Given the description of an element on the screen output the (x, y) to click on. 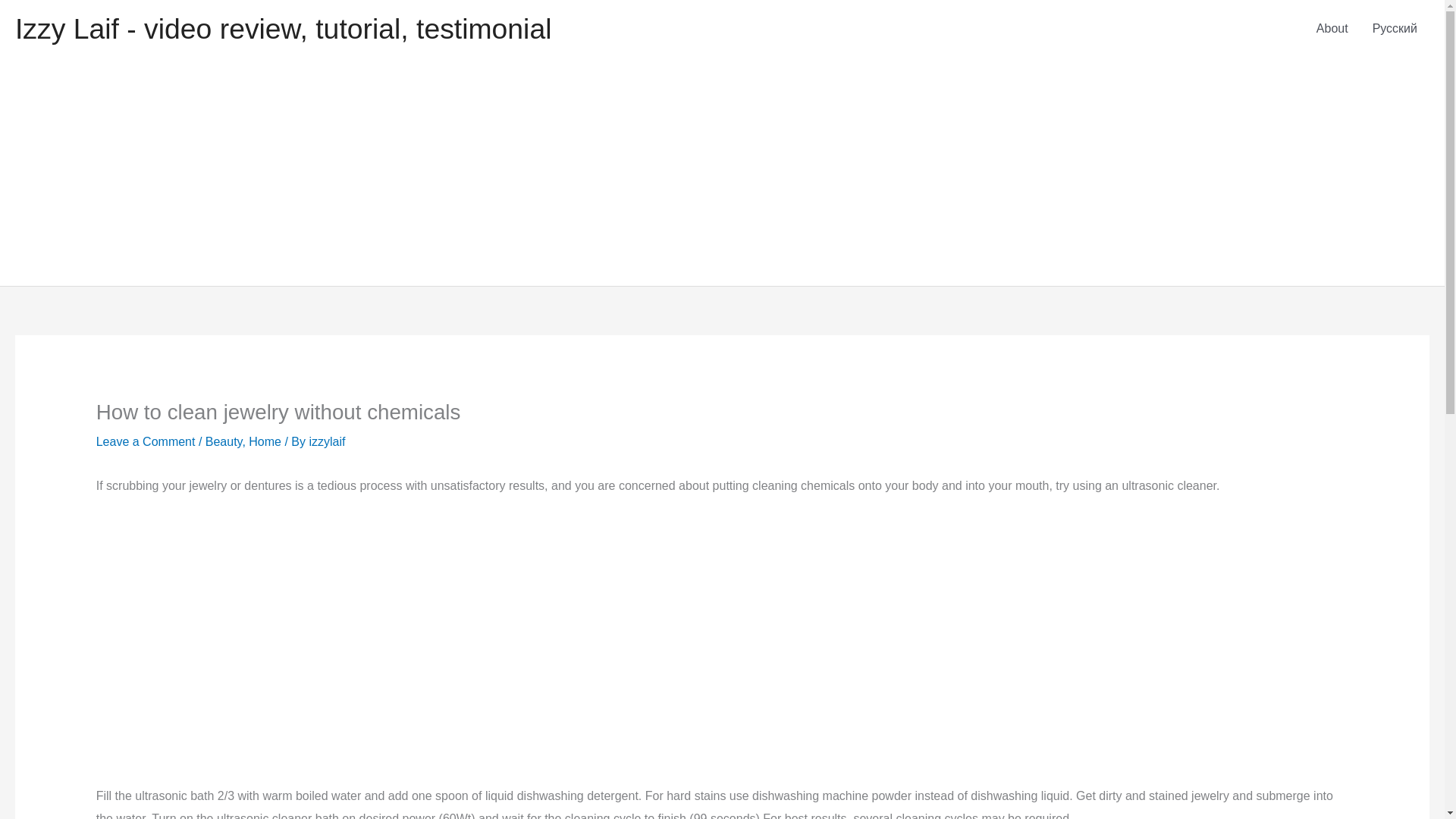
Beauty (224, 440)
izzylaif (326, 440)
Izzy Laif - video review, tutorial, testimonial (282, 29)
About (1331, 29)
Leave a Comment (145, 440)
Home (264, 440)
View all posts by izzylaif (326, 440)
